Given the description of an element on the screen output the (x, y) to click on. 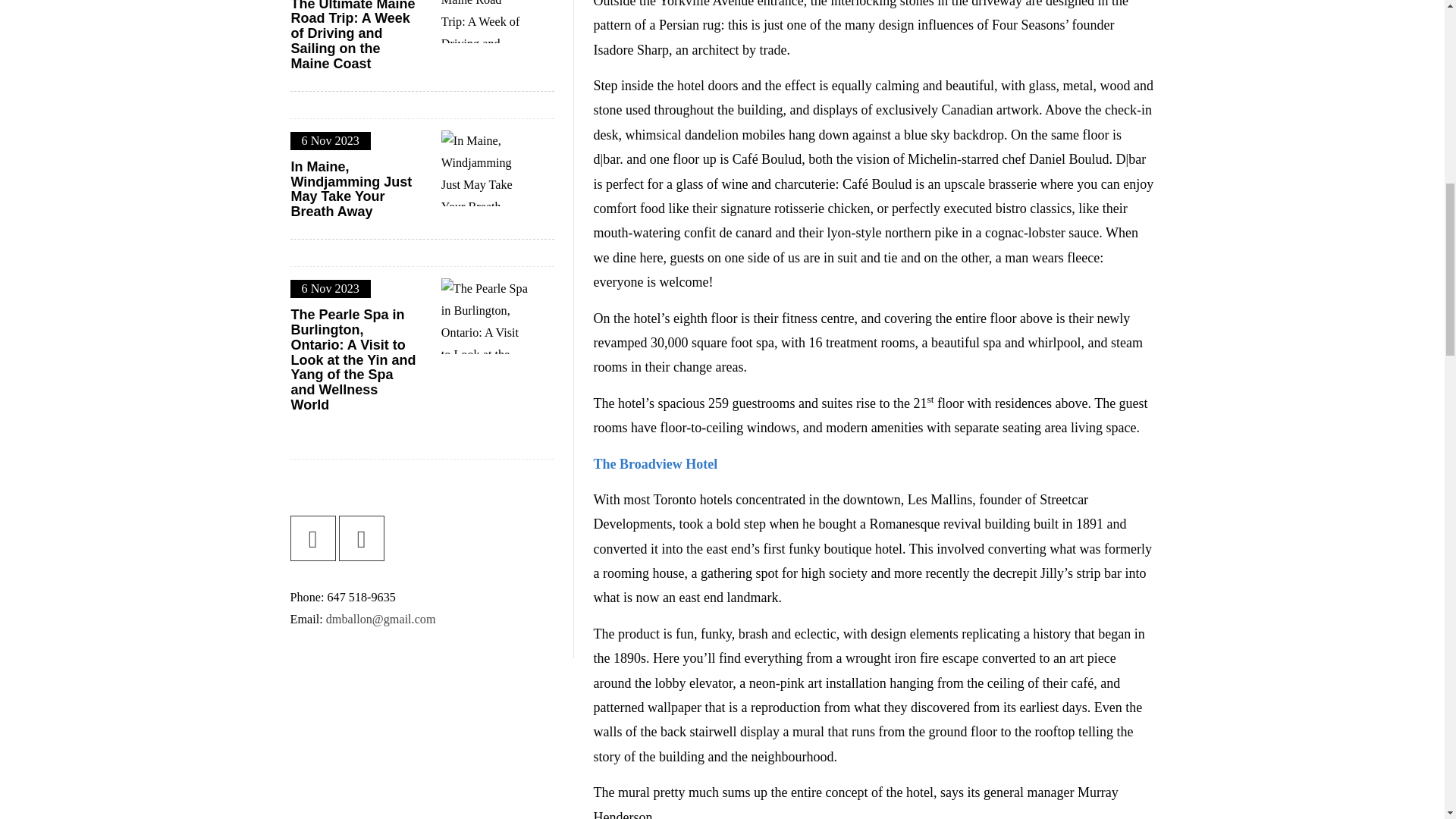
The Broadview Hotel (655, 463)
In Maine, Windjamming Just May Take Your Breath Away (352, 189)
